Given the description of an element on the screen output the (x, y) to click on. 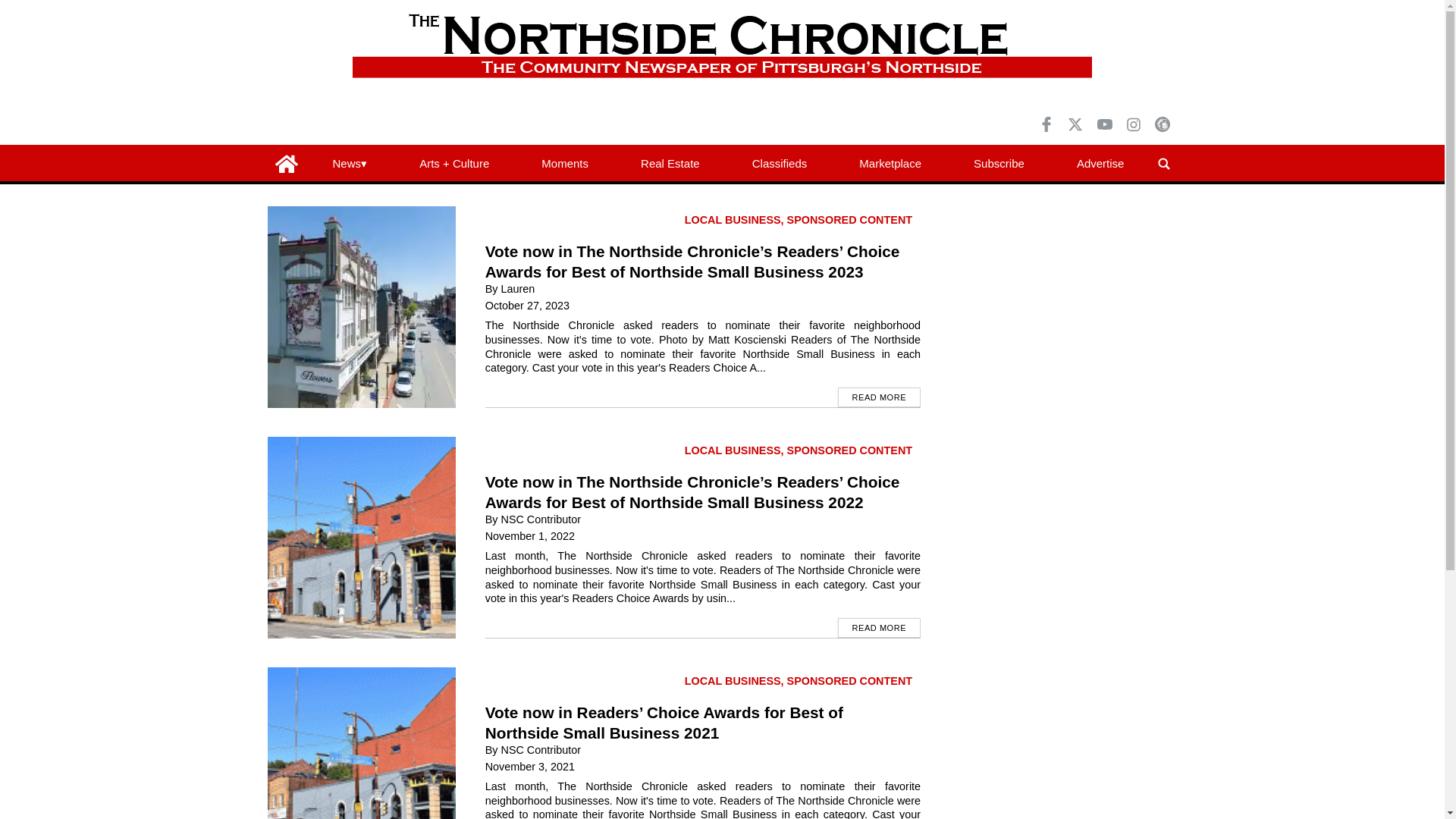
Real Estate (670, 163)
Classifieds (778, 163)
News (349, 164)
Moments (564, 163)
